Given the description of an element on the screen output the (x, y) to click on. 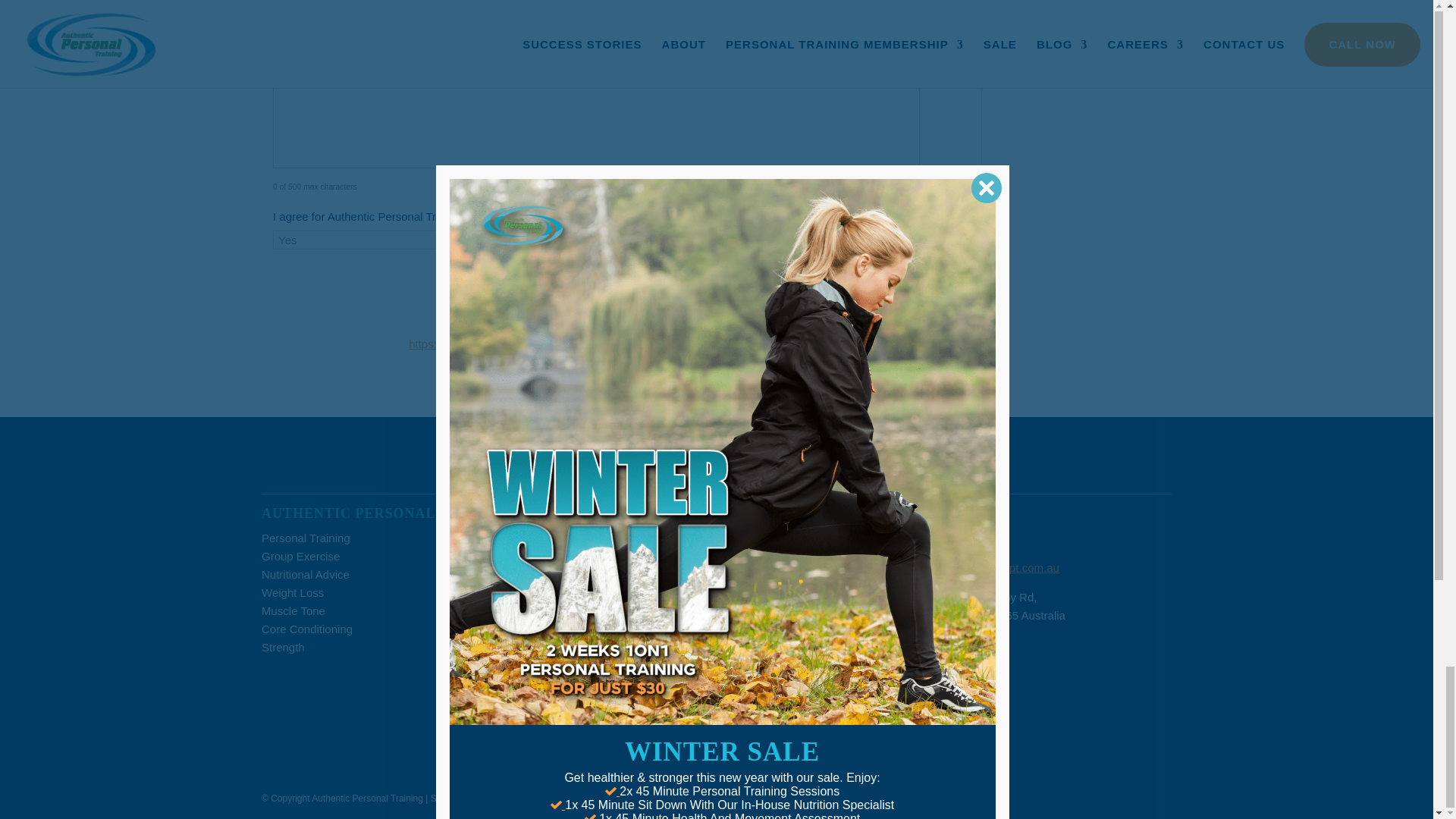
Submit (871, 326)
Follow on Facebook (913, 691)
Follow on Instagram (943, 691)
Follow on LinkedIn (974, 691)
